Given the description of an element on the screen output the (x, y) to click on. 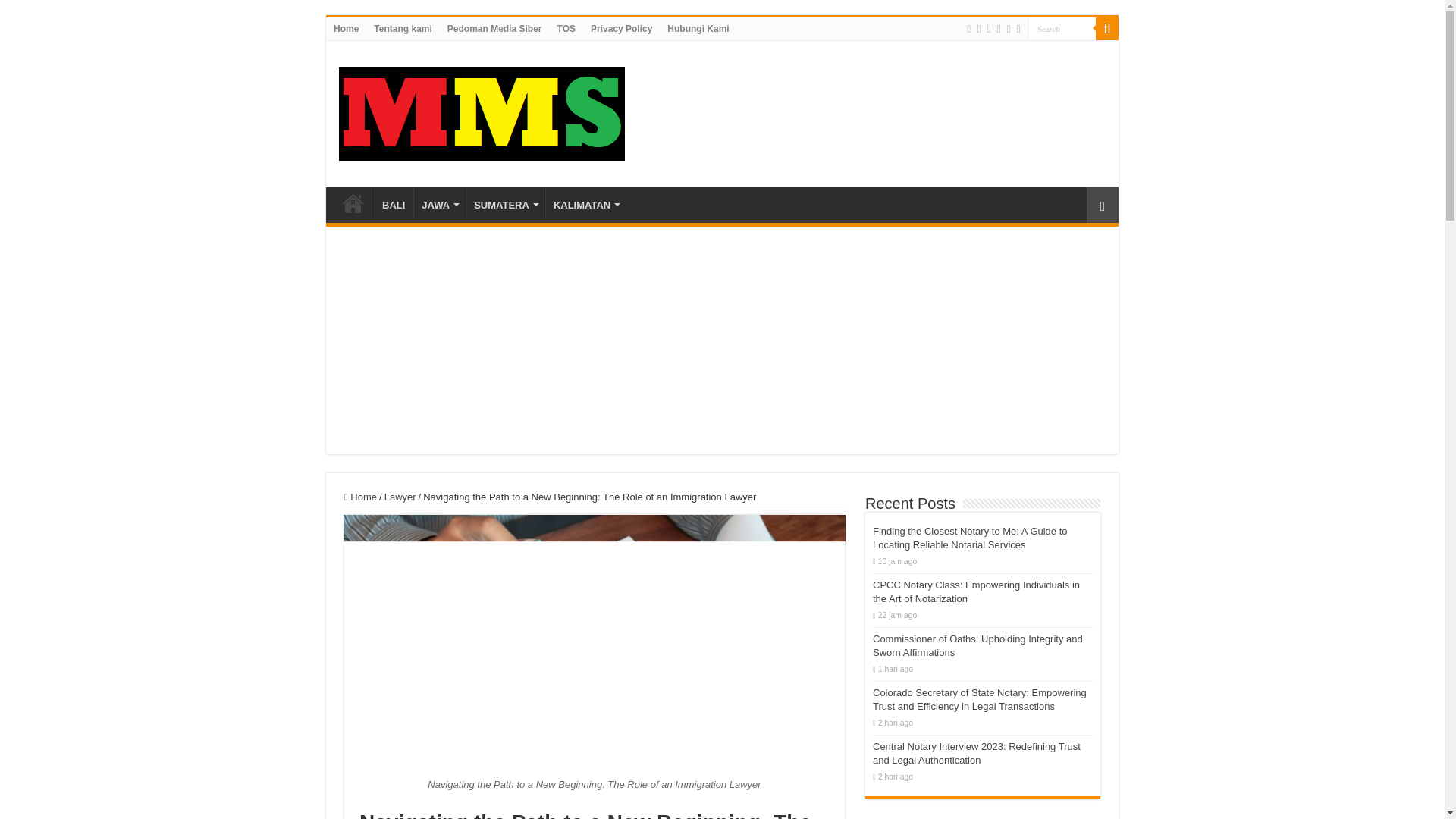
Pedoman Media Siber (494, 28)
Search (1061, 28)
TOS (566, 28)
Home (346, 28)
Hubungi Kami (697, 28)
Search (1061, 28)
Search (1061, 28)
Privacy Policy (621, 28)
Tentang kami (402, 28)
Search (1107, 28)
